Given the description of an element on the screen output the (x, y) to click on. 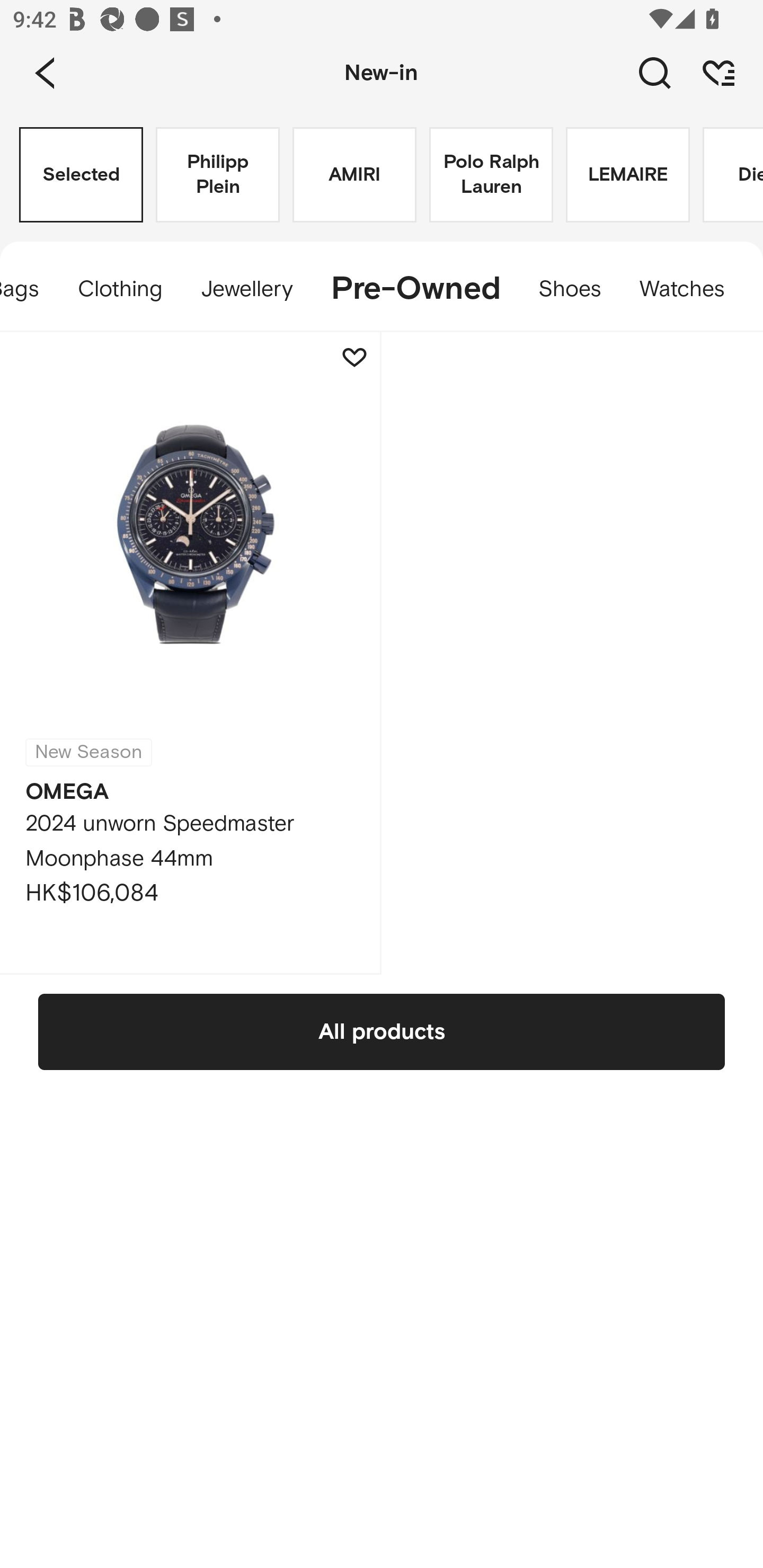
Selected (81, 174)
Philipp Plein (217, 174)
AMIRI (354, 174)
Polo Ralph Lauren (490, 174)
LEMAIRE (627, 174)
Clothing (119, 289)
Jewellery (246, 289)
Pre-Owned (415, 289)
Shoes (569, 289)
Watches (691, 289)
All products (381, 1031)
